Given the description of an element on the screen output the (x, y) to click on. 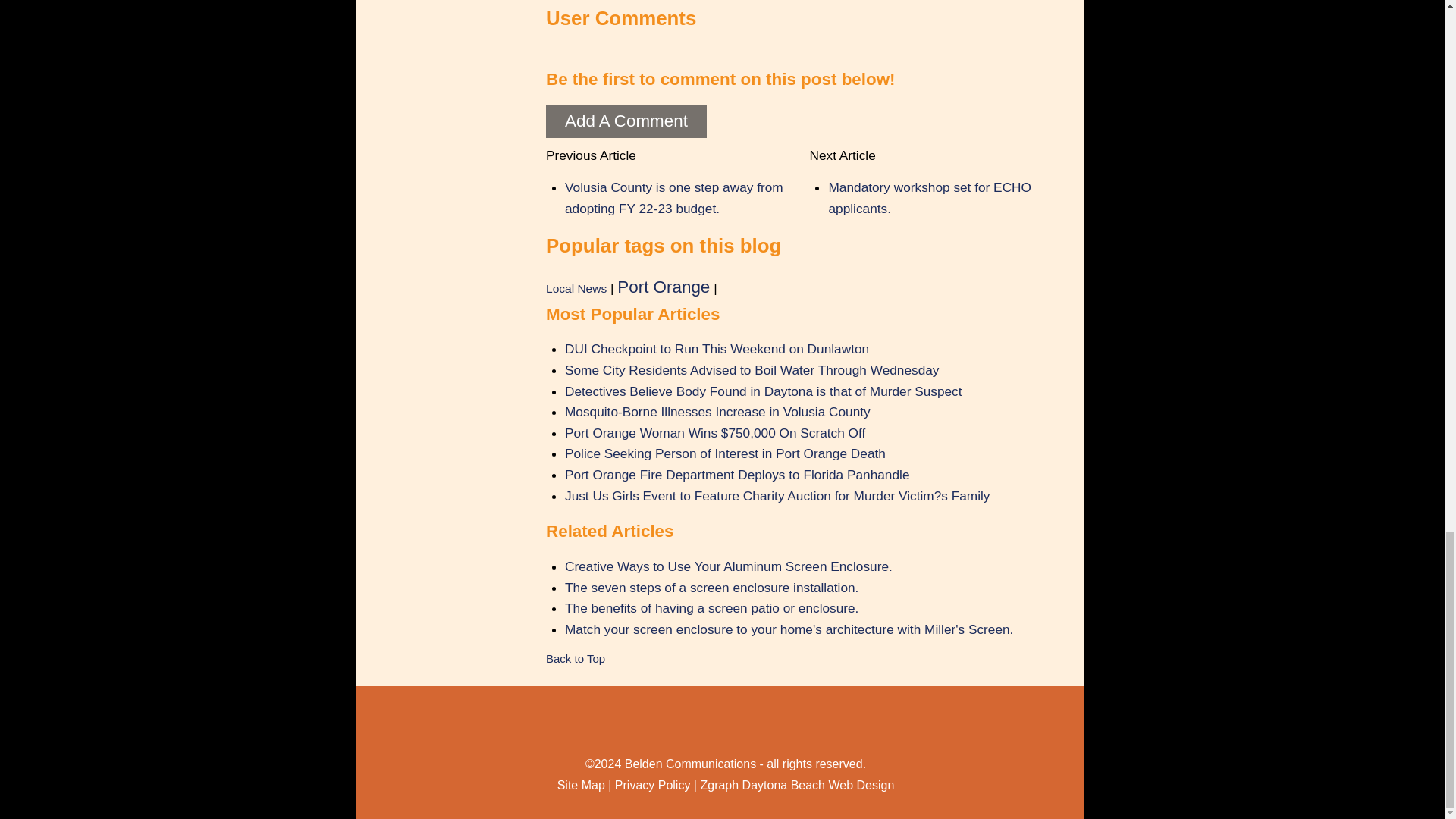
Mandatory workshop set for ECHO applicants. (929, 197)
Add A Comment (626, 120)
